Given the description of an element on the screen output the (x, y) to click on. 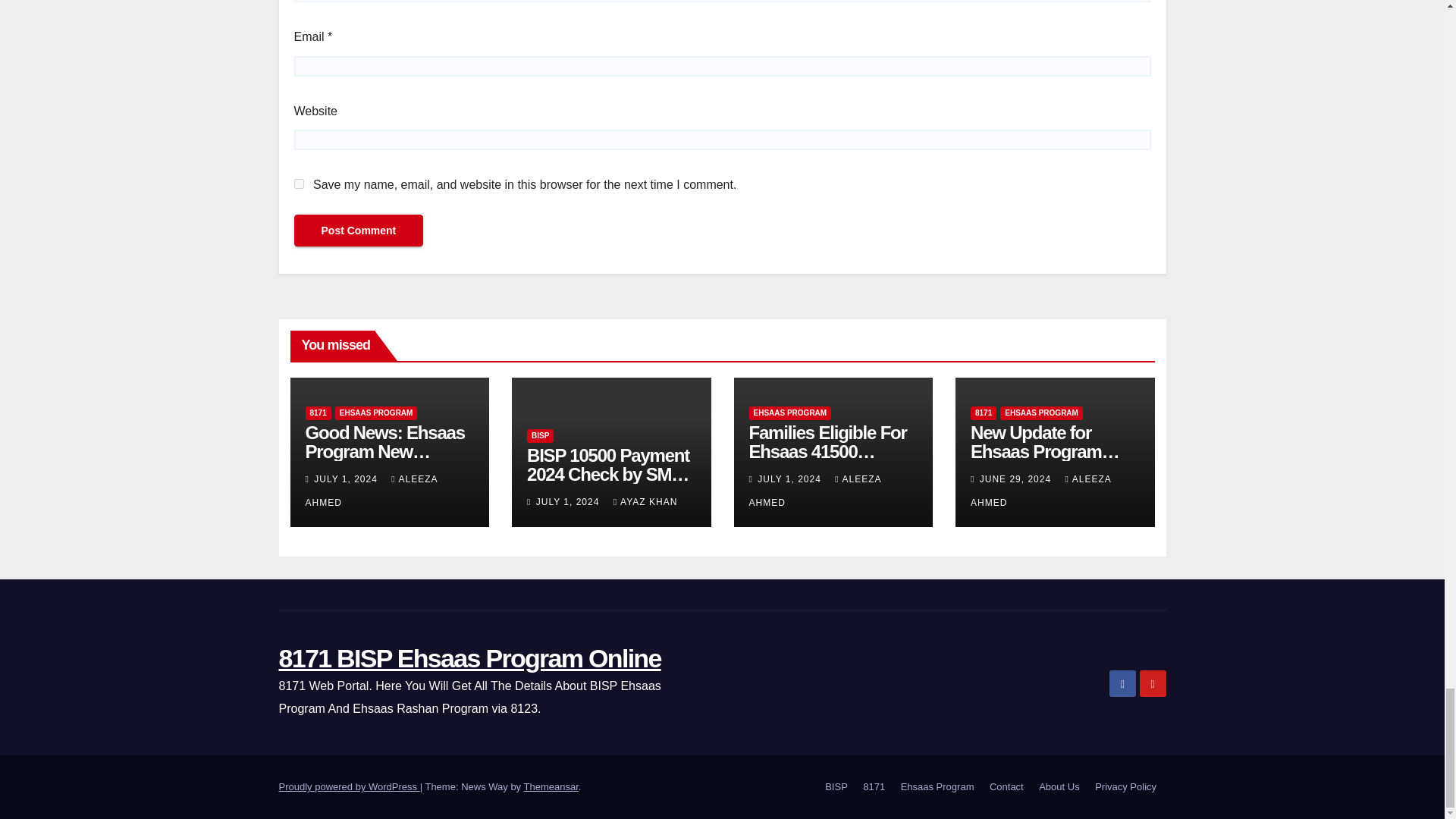
Post Comment (358, 230)
yes (299, 184)
